Given the description of an element on the screen output the (x, y) to click on. 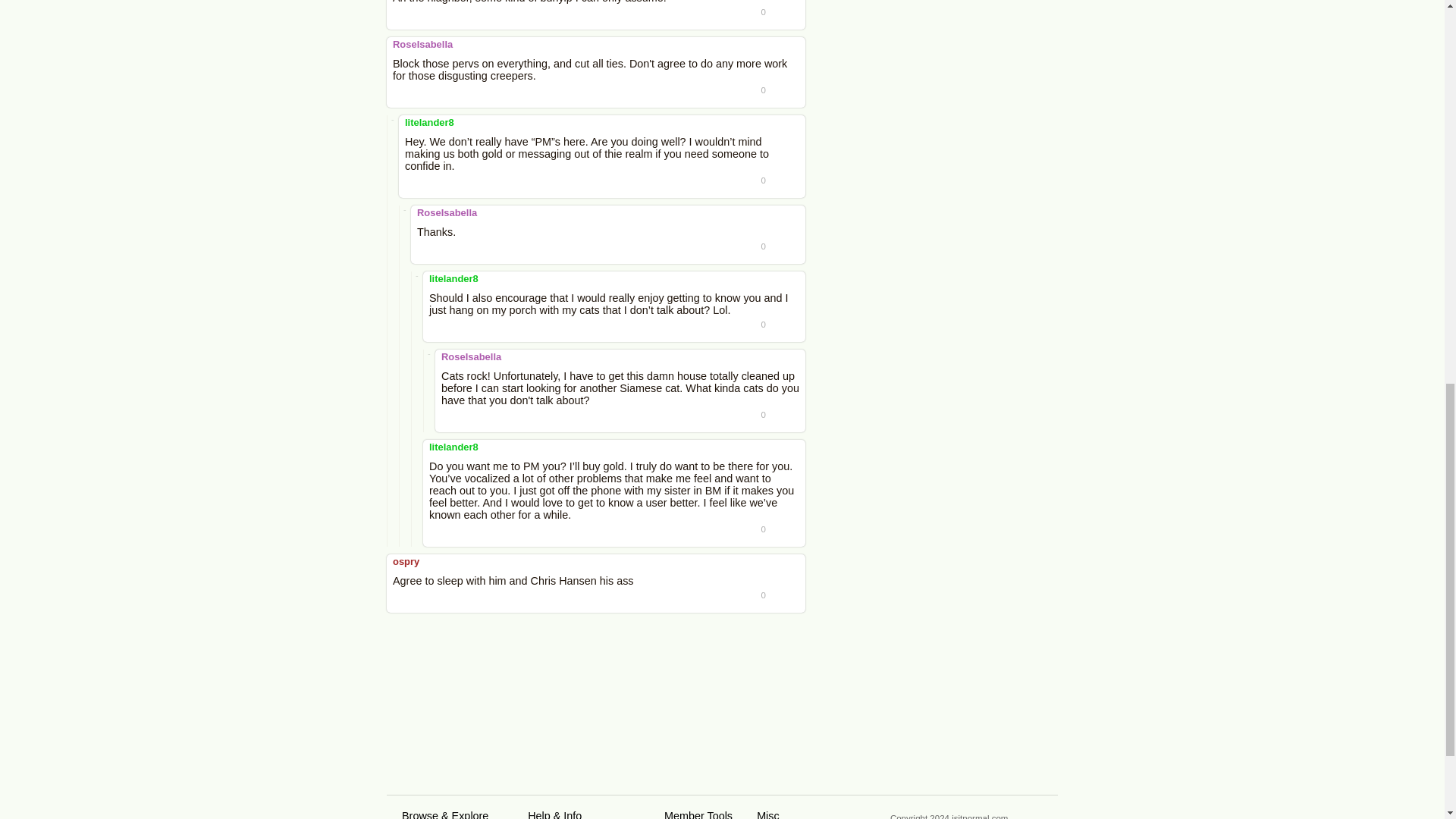
Joined 2 years ago (406, 561)
Joined 11 years ago (422, 43)
Joined 5 years ago (454, 446)
Joined 11 years ago (470, 356)
Joined 11 years ago (446, 212)
Joined 5 years ago (429, 122)
Joined 5 years ago (454, 278)
